Given the description of an element on the screen output the (x, y) to click on. 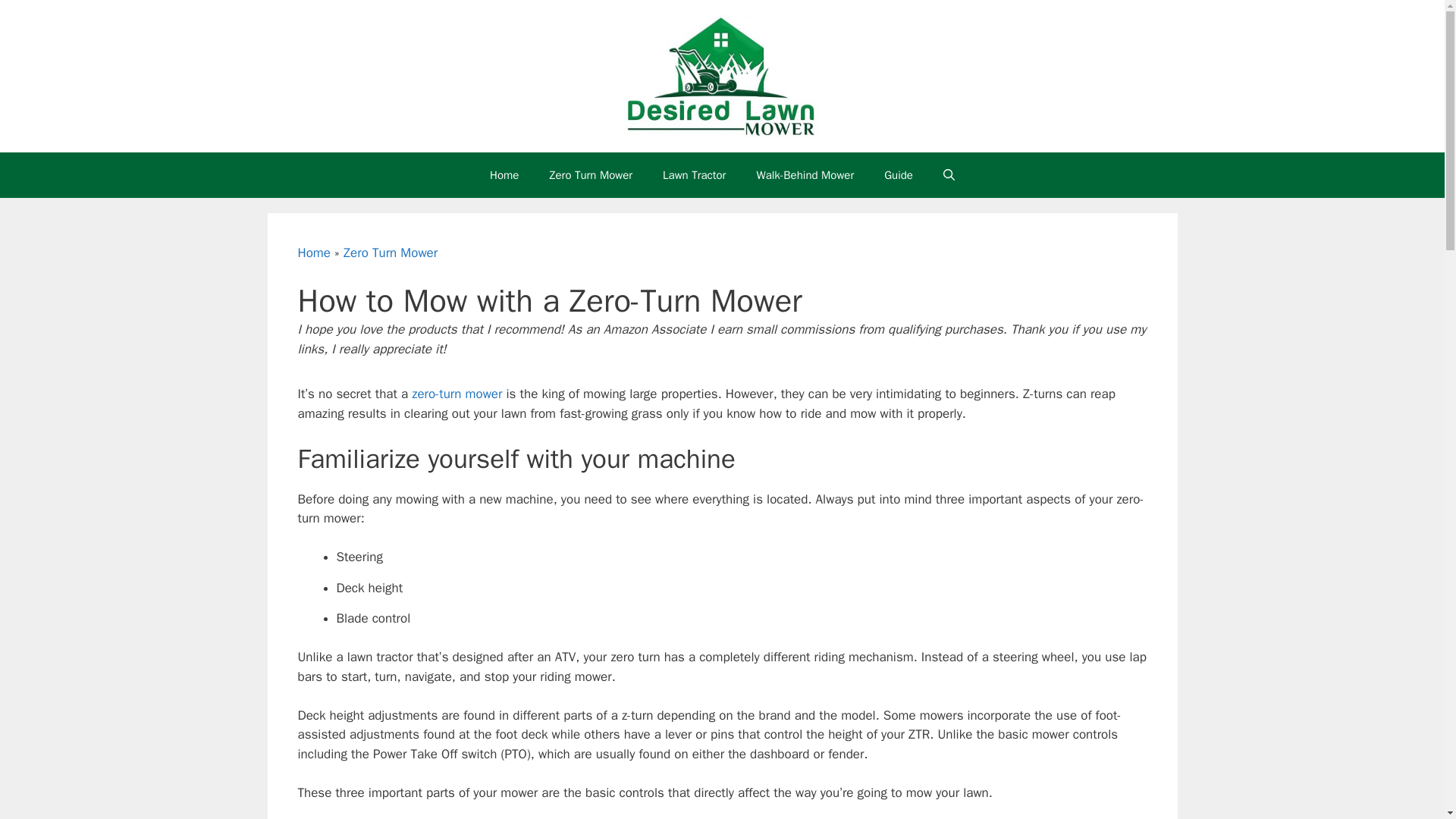
Home (504, 175)
Zero Turn Mower (390, 252)
Home (313, 252)
Zero Turn Mower (590, 175)
zero-turn mower (457, 393)
Walk-Behind Mower (805, 175)
Guide (898, 175)
Lawn Tractor (694, 175)
